Given the description of an element on the screen output the (x, y) to click on. 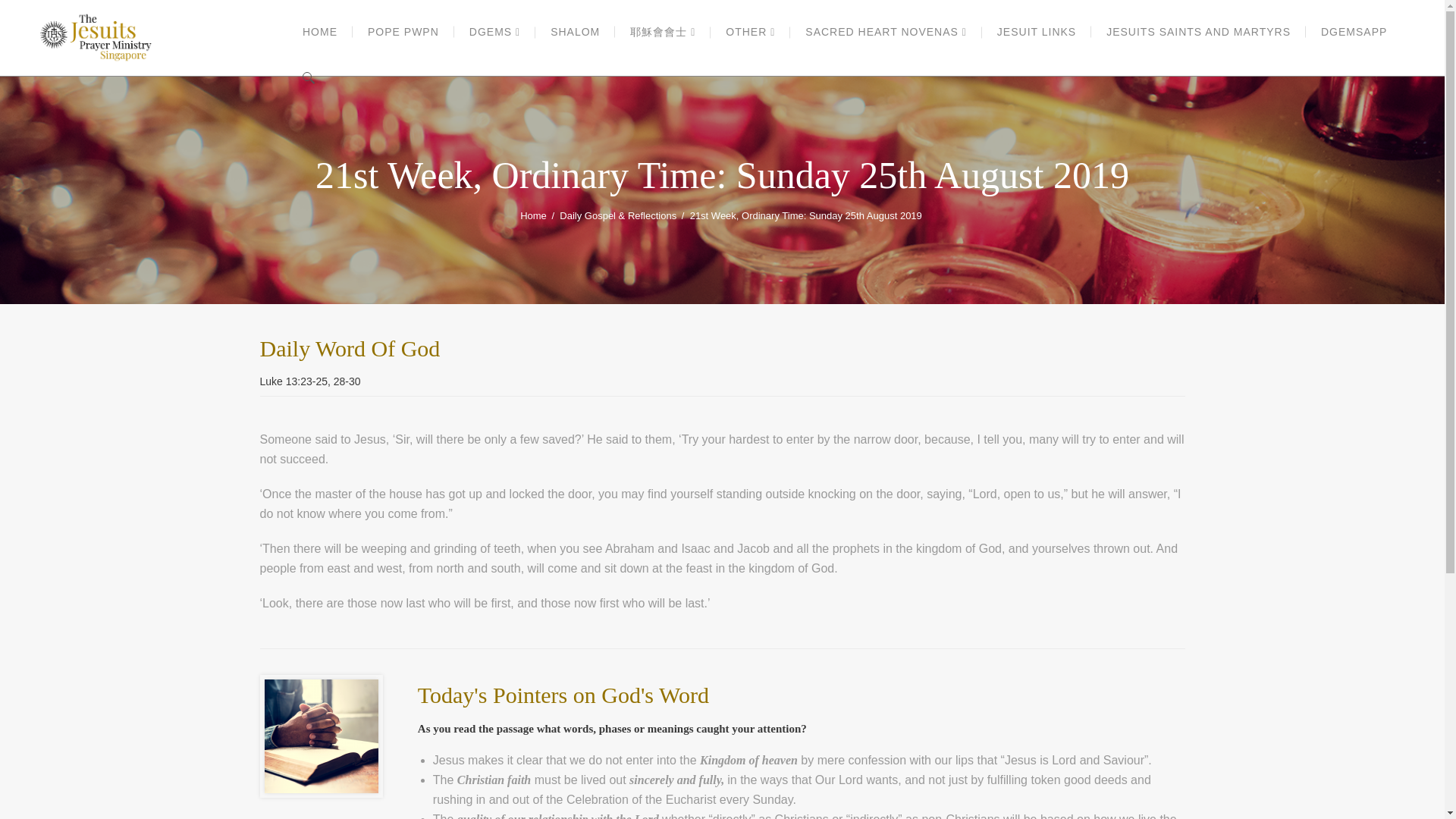
Praying (320, 736)
DGEMS (494, 32)
SHALOM (575, 31)
DGEMSAPP (1353, 31)
Search (1177, 43)
JESUITS SAINTS AND MARTYRS (1198, 31)
POPE PWPN (402, 31)
JESUIT LINKS (1036, 31)
SACRED HEART NOVENAS (885, 32)
OTHER (750, 32)
